Given the description of an element on the screen output the (x, y) to click on. 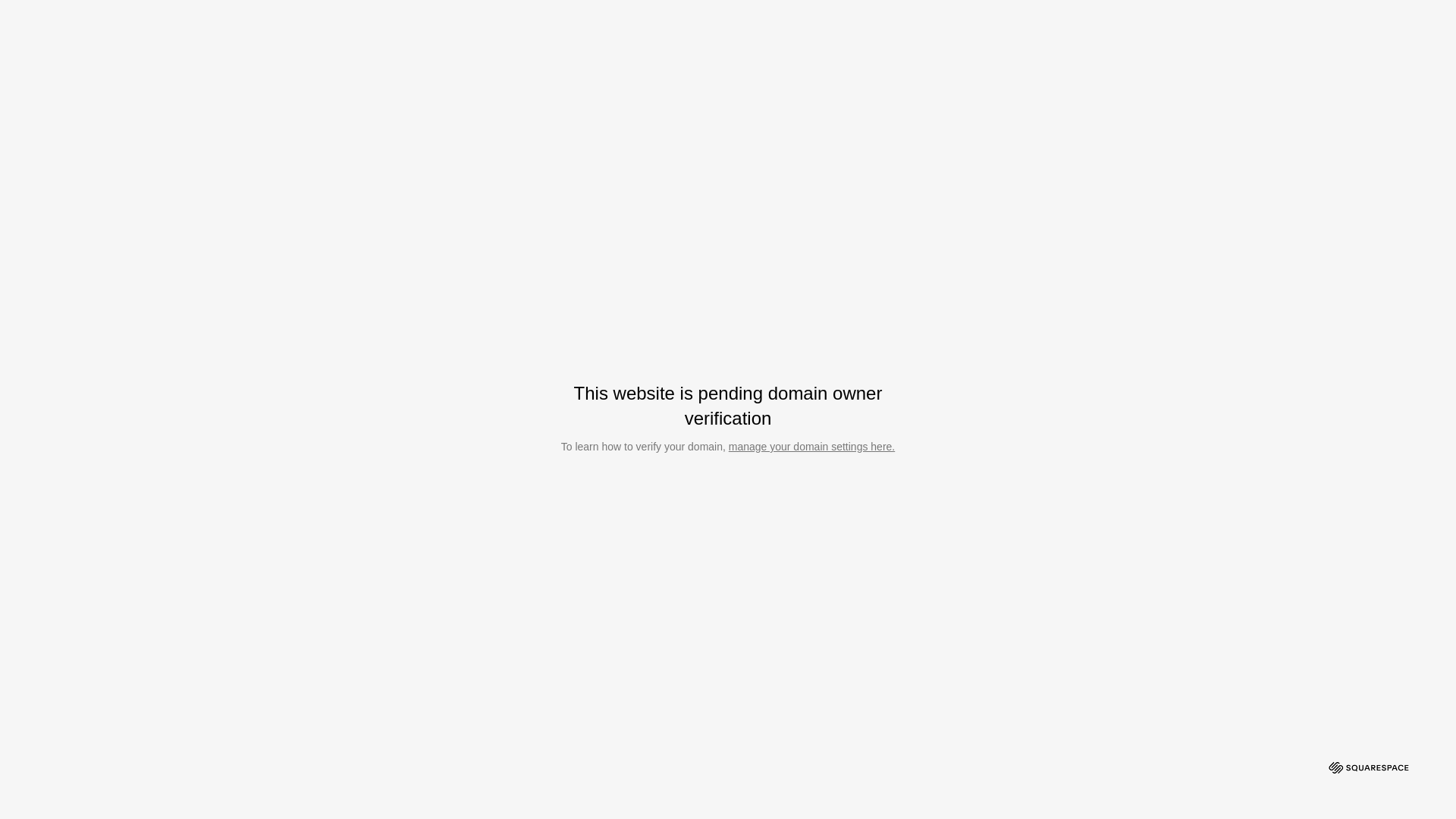
manage your domain settings here. Element type: text (811, 446)
